Given the description of an element on the screen output the (x, y) to click on. 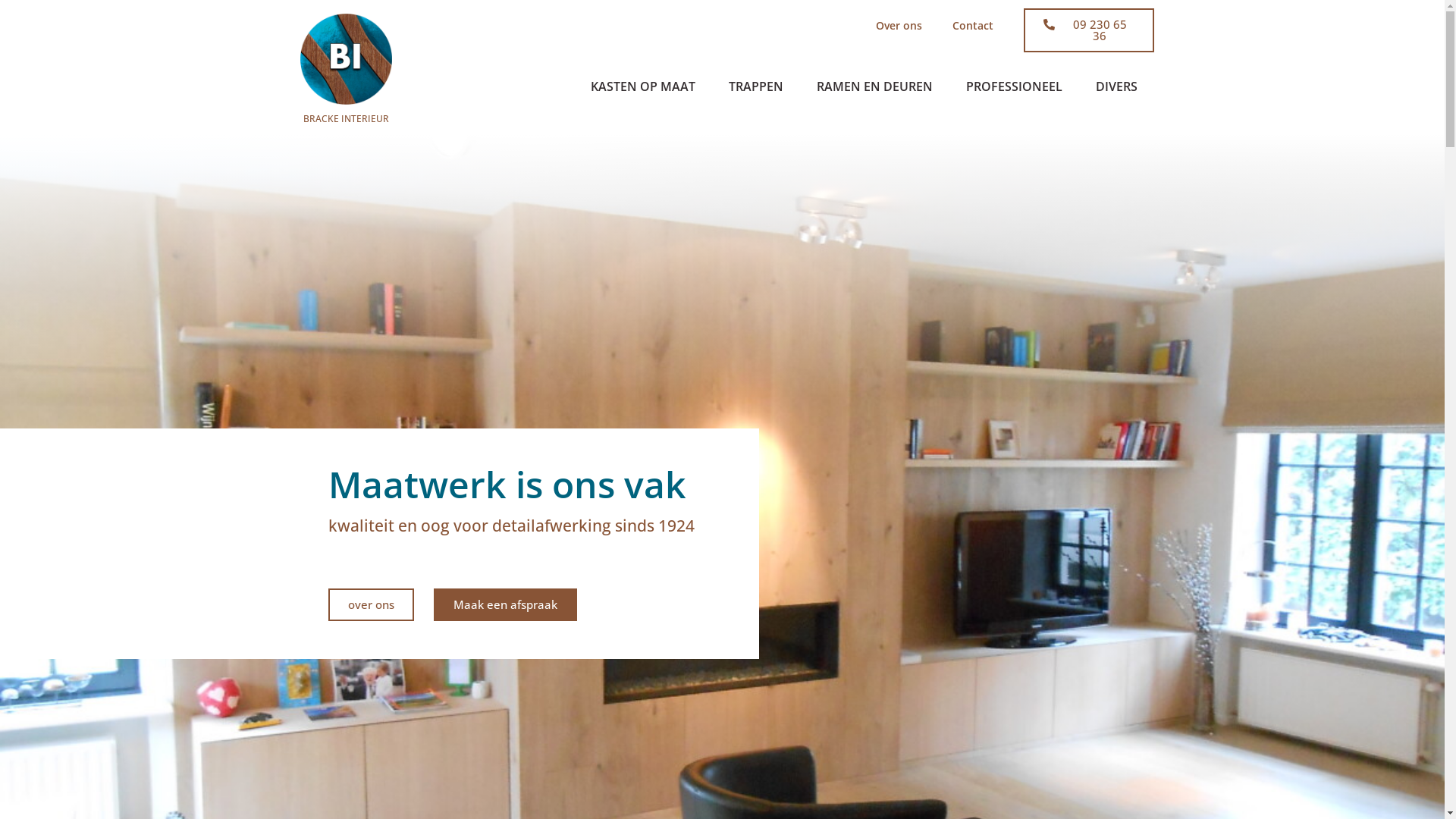
TRAPPEN Element type: text (756, 85)
RAMEN EN DEUREN Element type: text (874, 85)
Over ons Element type: text (898, 25)
Contact Element type: text (972, 25)
PROFESSIONEEL Element type: text (1014, 85)
09 230 65 36 Element type: text (1088, 30)
DIVERS Element type: text (1116, 85)
over ons Element type: text (370, 604)
KASTEN OP MAAT Element type: text (643, 85)
Maak een afspraak Element type: text (505, 604)
